Given the description of an element on the screen output the (x, y) to click on. 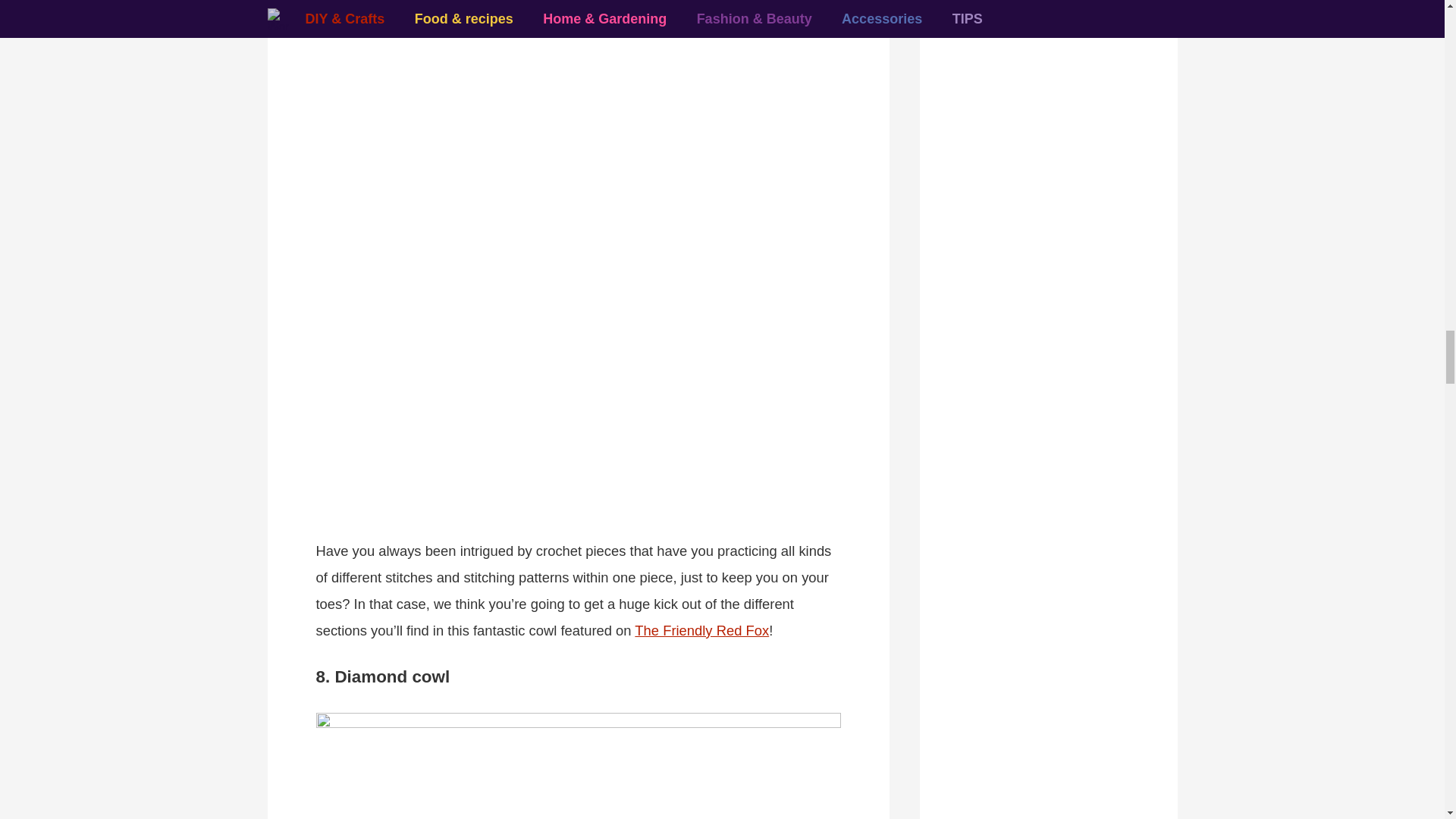
The Friendly Red Fox (701, 630)
